Given the description of an element on the screen output the (x, y) to click on. 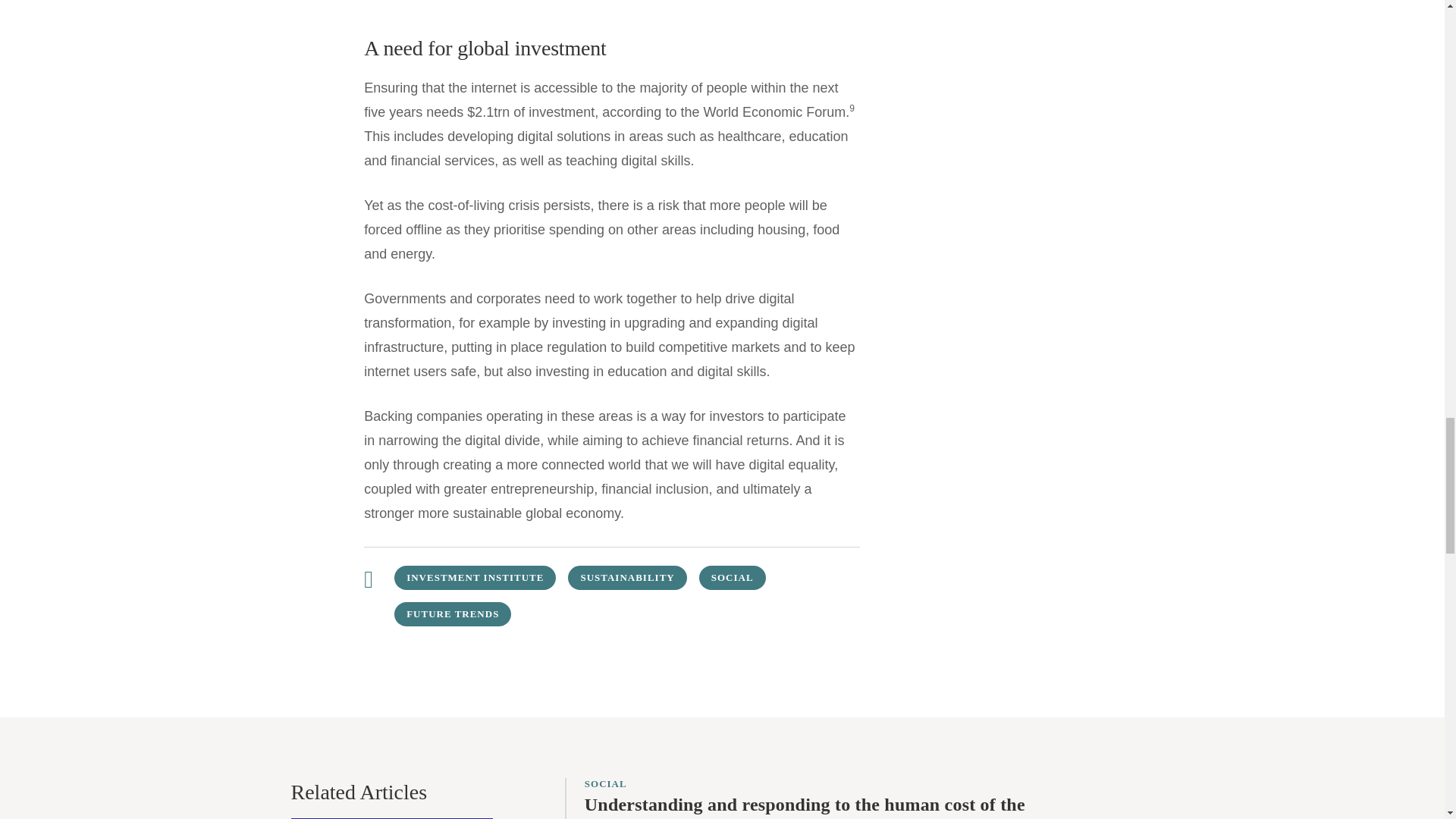
Explore Investment Institute insights (475, 577)
Explore Future Trends insights (452, 613)
Explore Social insights (731, 577)
Explore Sustainability insights (626, 577)
